Given the description of an element on the screen output the (x, y) to click on. 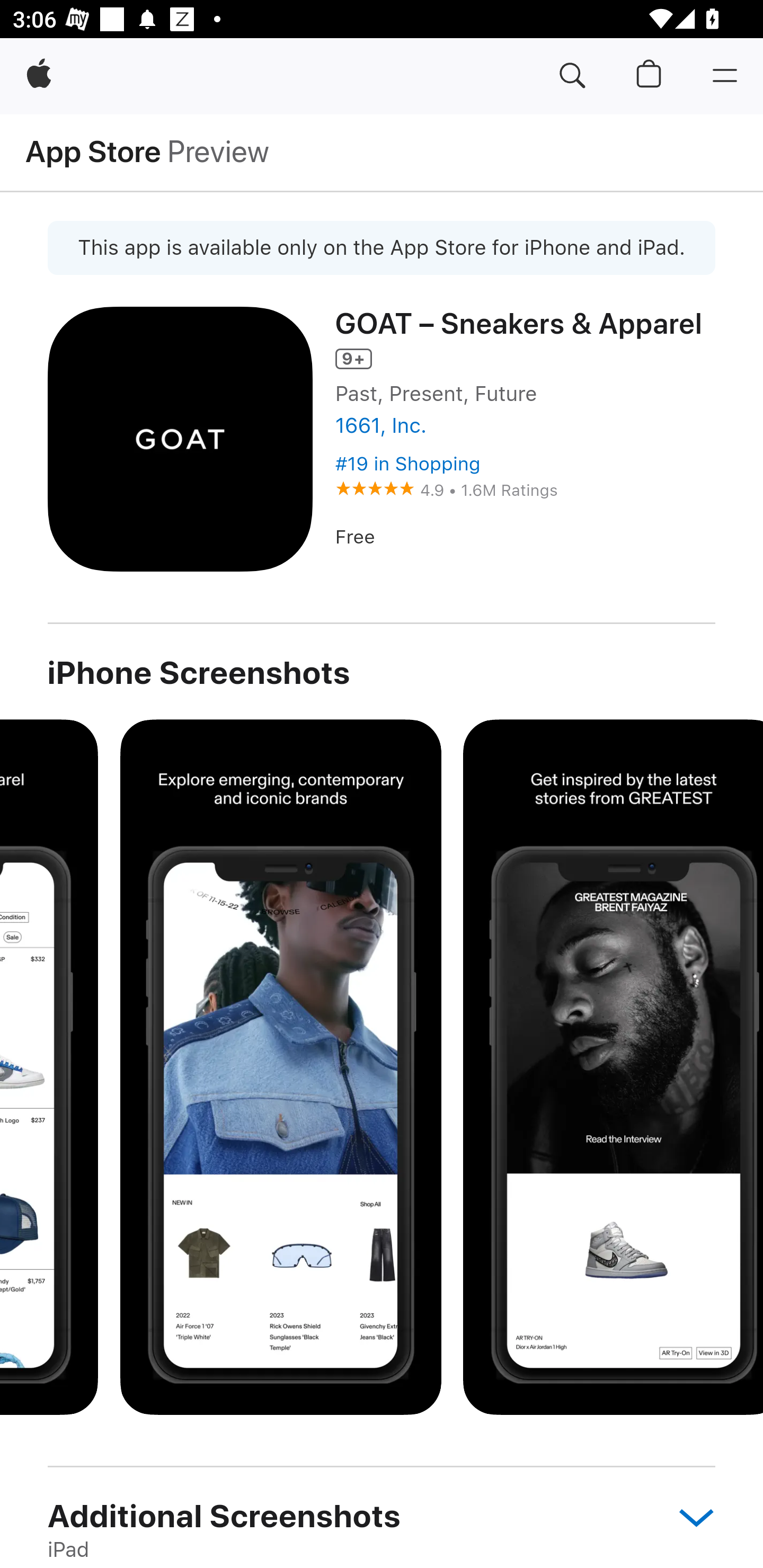
Apple (38, 75)
Search apple.com (572, 75)
Shopping Bag (648, 75)
Menu (724, 75)
App Store (93, 151)
1661, Inc. (380, 426)
#19 in Shopping (407, 463)
 (686, 1516)
